Given the description of an element on the screen output the (x, y) to click on. 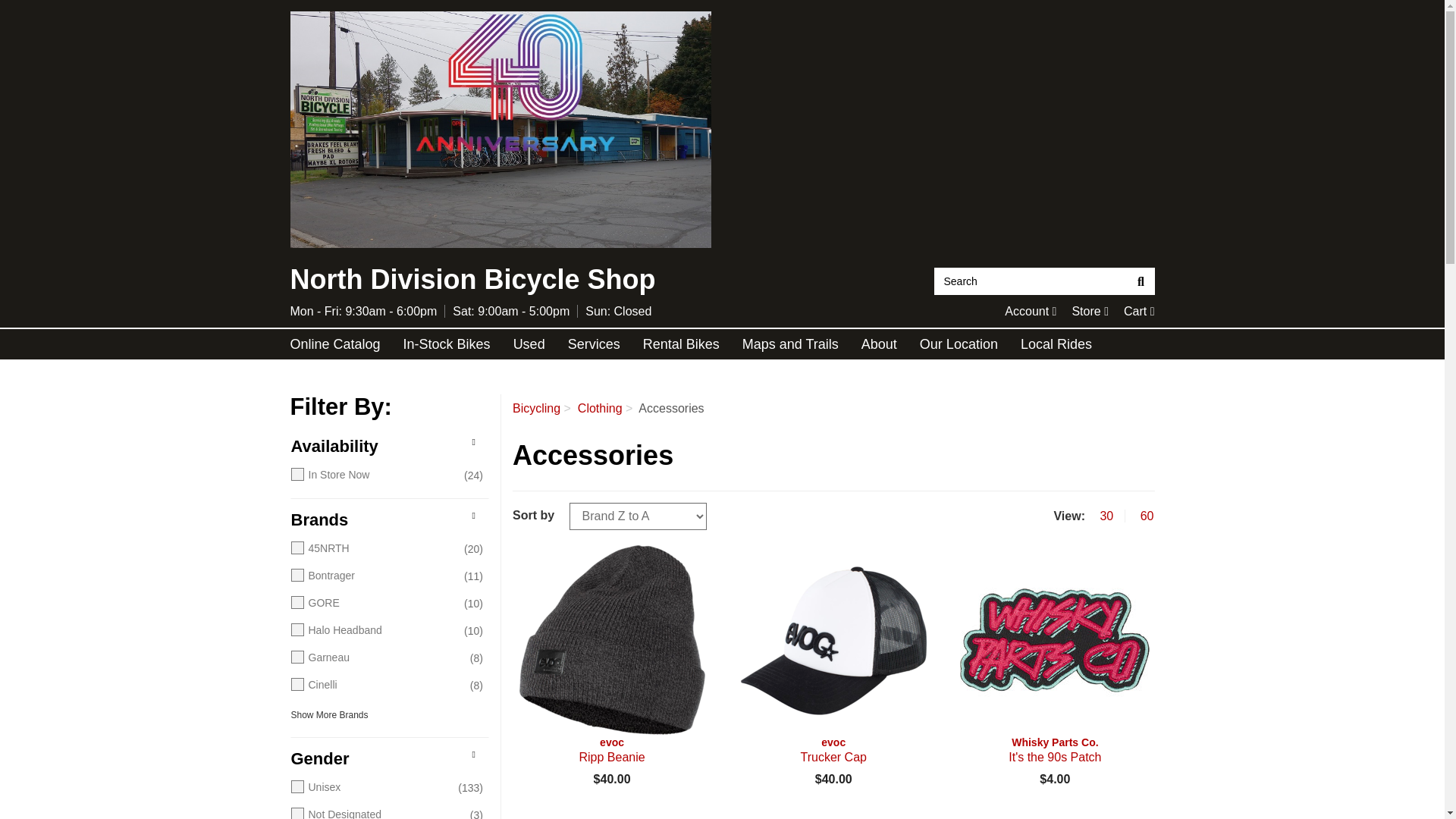
Search (1140, 280)
Cart (1139, 310)
Account (1139, 310)
Store (1030, 310)
Online Catalog (1030, 310)
North Division Bicycle Shop Home Page (1089, 310)
Search (1089, 310)
